Given the description of an element on the screen output the (x, y) to click on. 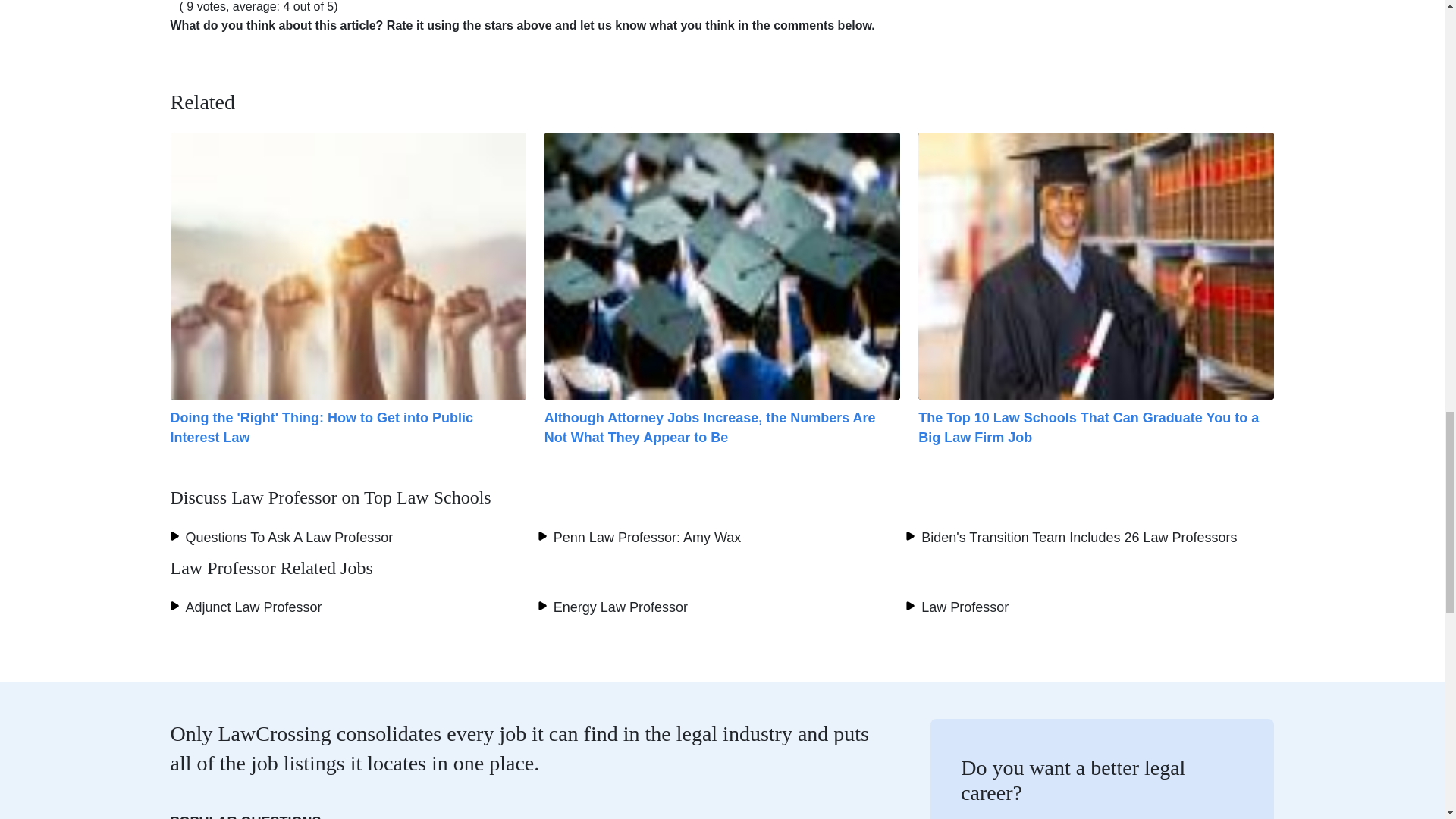
Doing the  (347, 265)
Doing the  (321, 427)
